Given the description of an element on the screen output the (x, y) to click on. 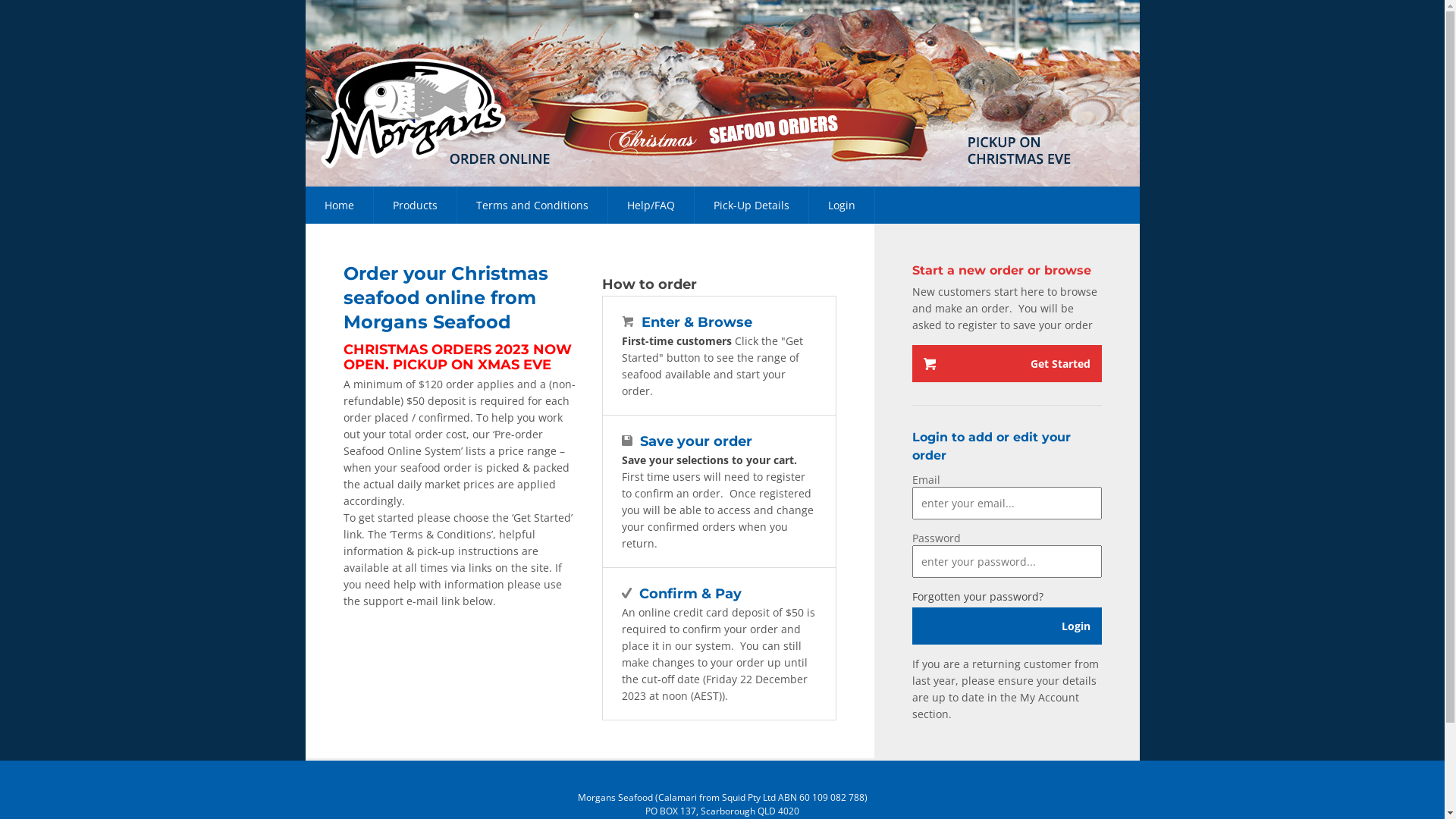
Terms and Conditions Element type: text (531, 204)
Forgotten your password? Element type: text (976, 596)
Get Started Element type: text (1006, 363)
Login Element type: text (1006, 625)
Products Element type: text (414, 204)
Help/FAQ Element type: text (651, 204)
Pick-Up Details Element type: text (751, 204)
Home Element type: text (338, 204)
Login Element type: text (841, 204)
